Given the description of an element on the screen output the (x, y) to click on. 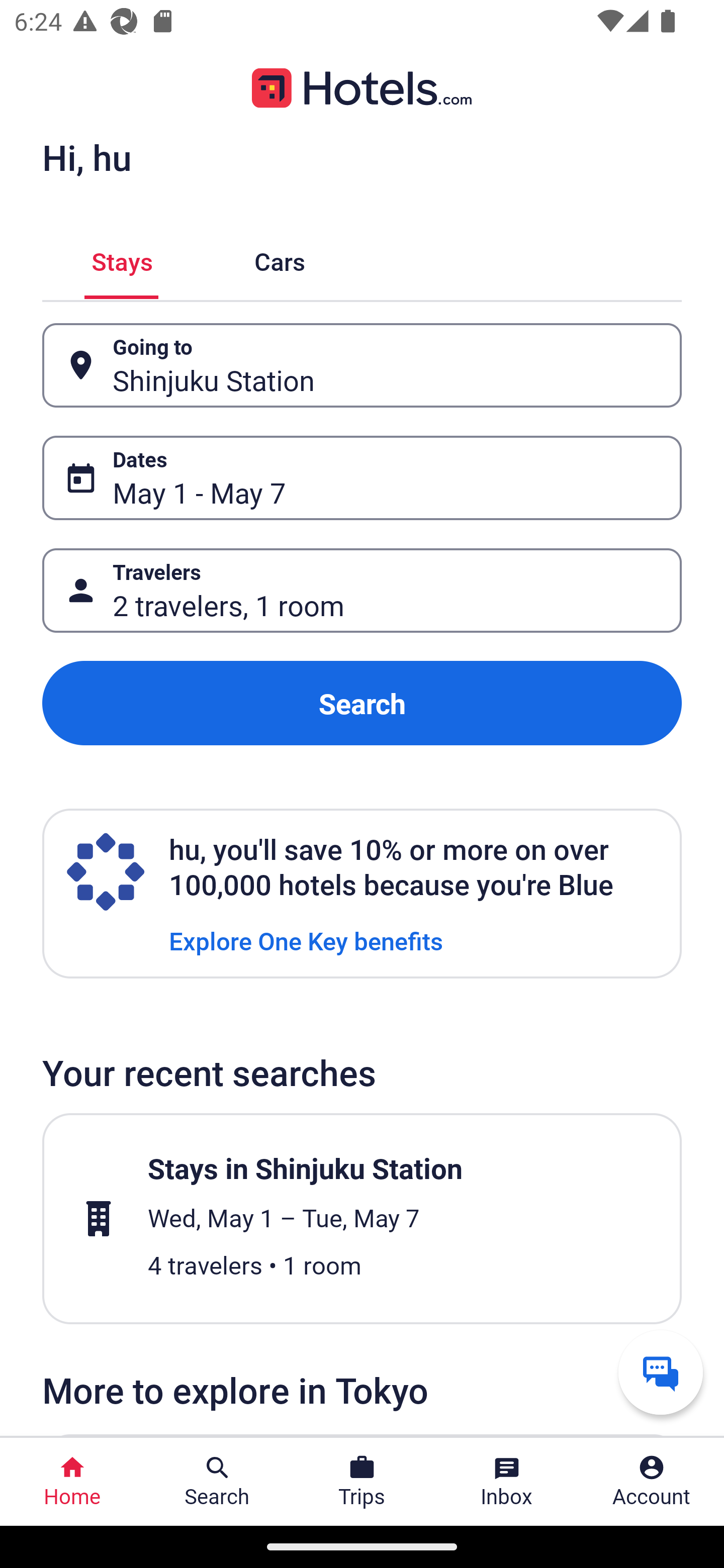
Hi, hu (86, 156)
Cars (279, 259)
Going to Button Shinjuku Station (361, 365)
Dates Button May 1 - May 7 (361, 477)
Travelers Button 2 travelers, 1 room (361, 590)
Search (361, 702)
Get help from a virtual agent (660, 1371)
Search Search Button (216, 1481)
Trips Trips Button (361, 1481)
Inbox Inbox Button (506, 1481)
Account Profile. Button (651, 1481)
